Given the description of an element on the screen output the (x, y) to click on. 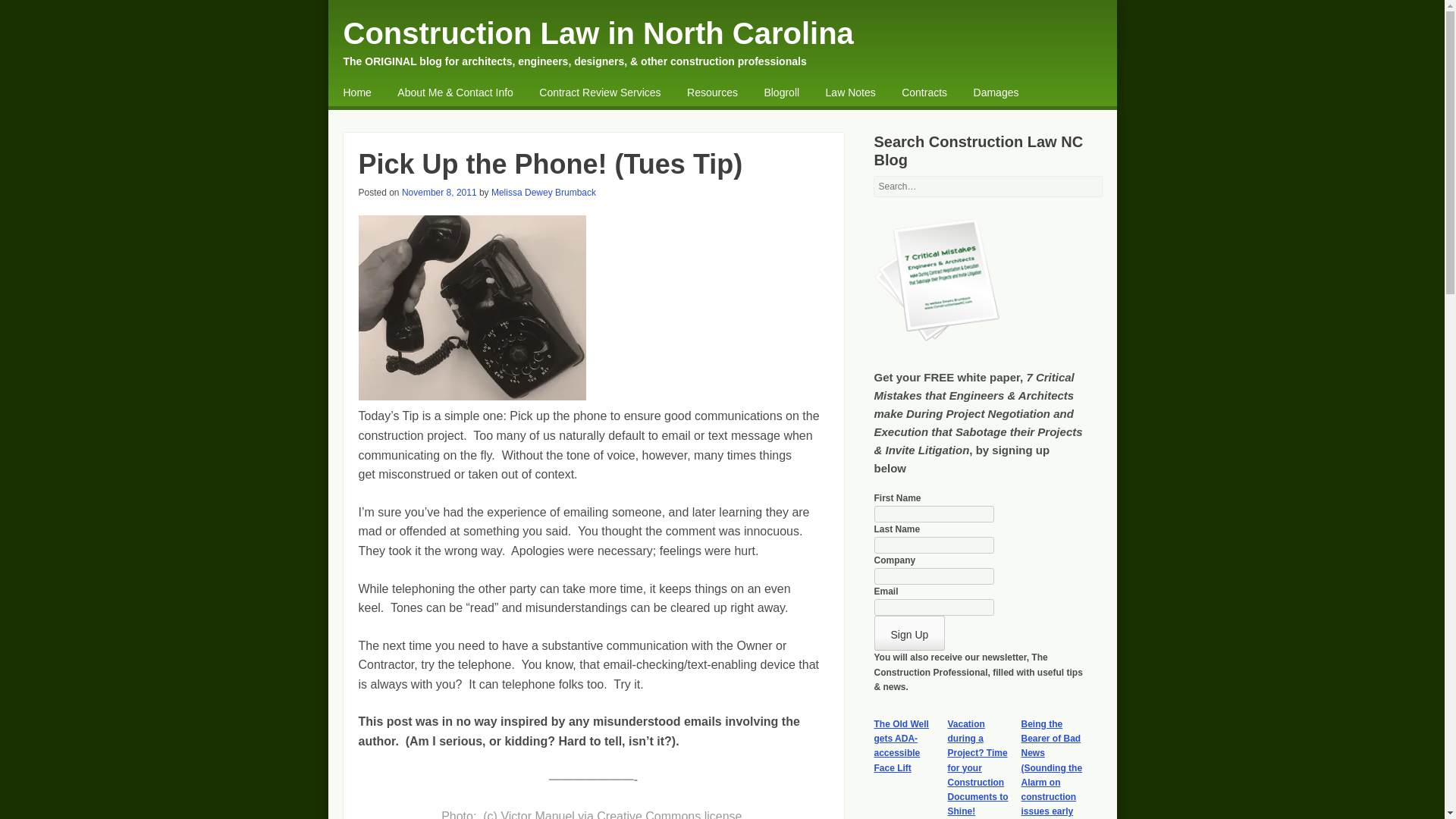
Law Notes (850, 92)
Sign Up (908, 632)
View all posts by Melissa Dewey Brumback (543, 192)
Contract Review Services (599, 92)
Damages (996, 92)
Construction Law in North Carolina (597, 32)
Skip to content (382, 94)
Skip to content (382, 94)
Melissa Dewey Brumback (543, 192)
phone (471, 307)
2:14 pm (439, 192)
Blogroll (780, 92)
Contracts (924, 92)
Construction Law in North Carolina (597, 32)
Search (33, 17)
